Given the description of an element on the screen output the (x, y) to click on. 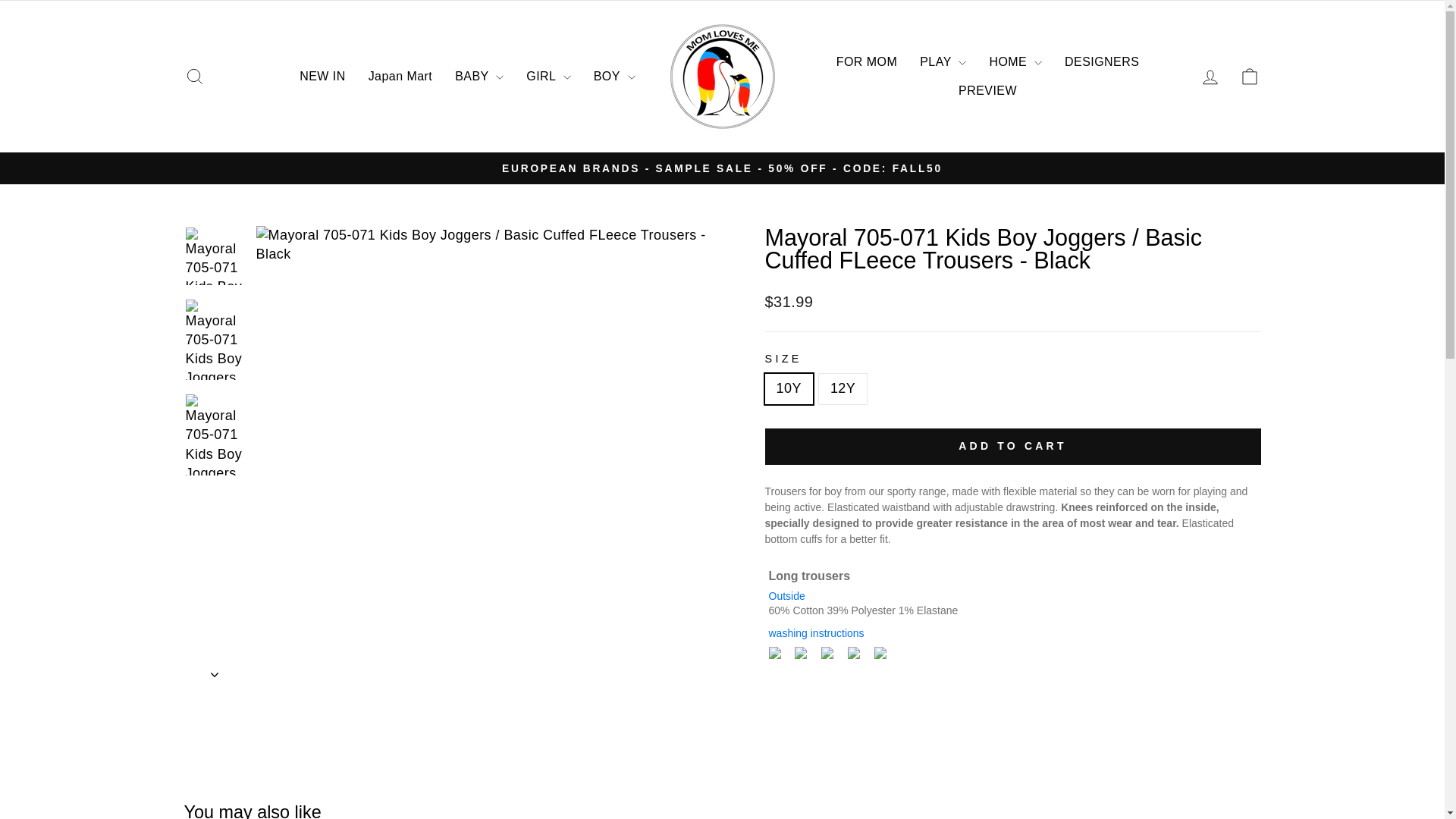
icon-search (194, 76)
icon-chevron (214, 674)
account (1210, 76)
icon-bag-minimal (1249, 76)
